Given the description of an element on the screen output the (x, y) to click on. 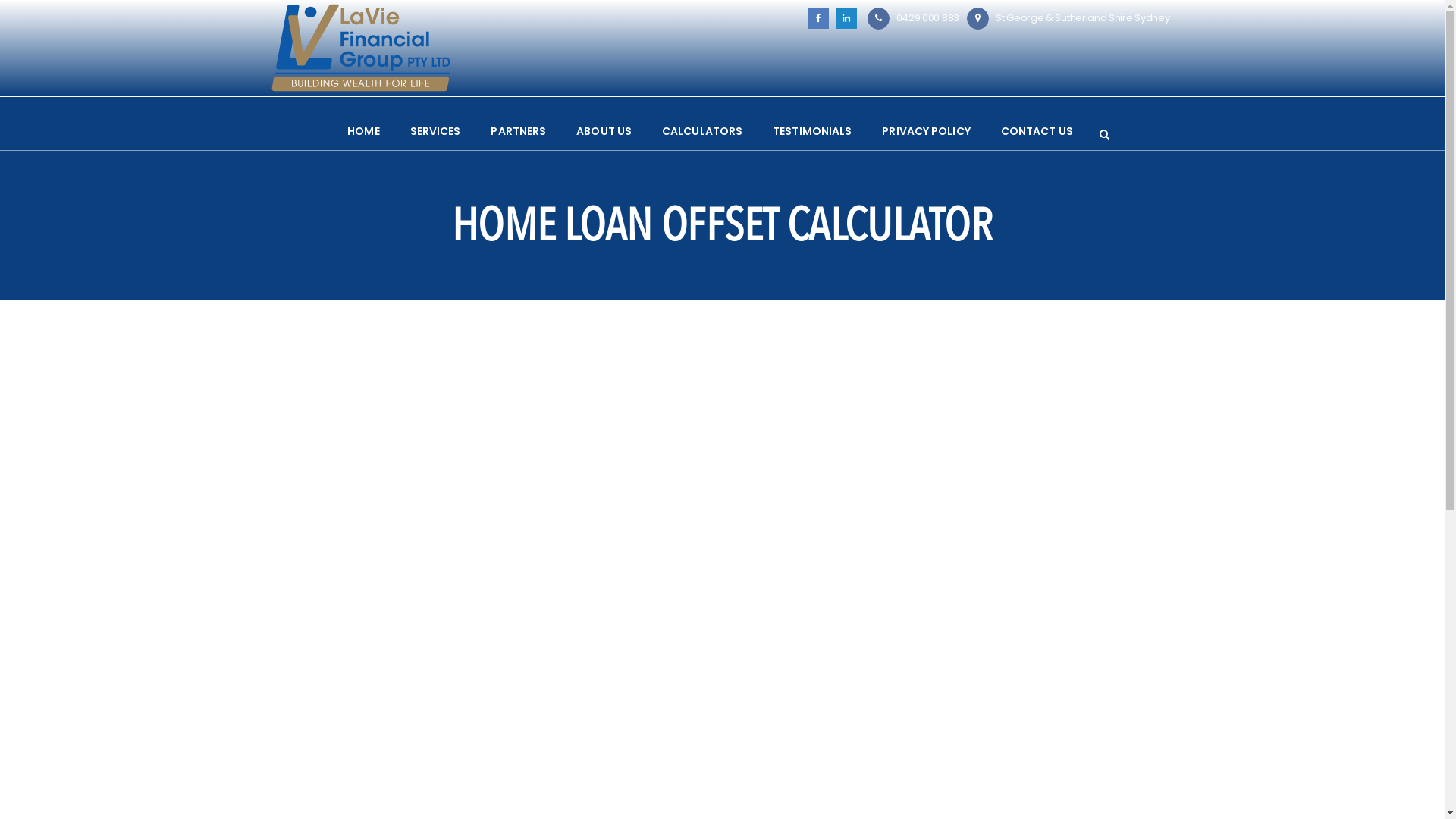
CONTACT US Element type: text (1036, 131)
ABOUT US Element type: text (603, 131)
HOME Element type: text (363, 131)
PARTNERS Element type: text (518, 131)
0429 000 883 Element type: text (1140, 685)
CALCULATORS Element type: text (701, 131)
PRIVACY POLICY Element type: text (925, 131)
TESTIMONIALS Element type: text (811, 131)
SERVICES Element type: text (435, 131)
